Given the description of an element on the screen output the (x, y) to click on. 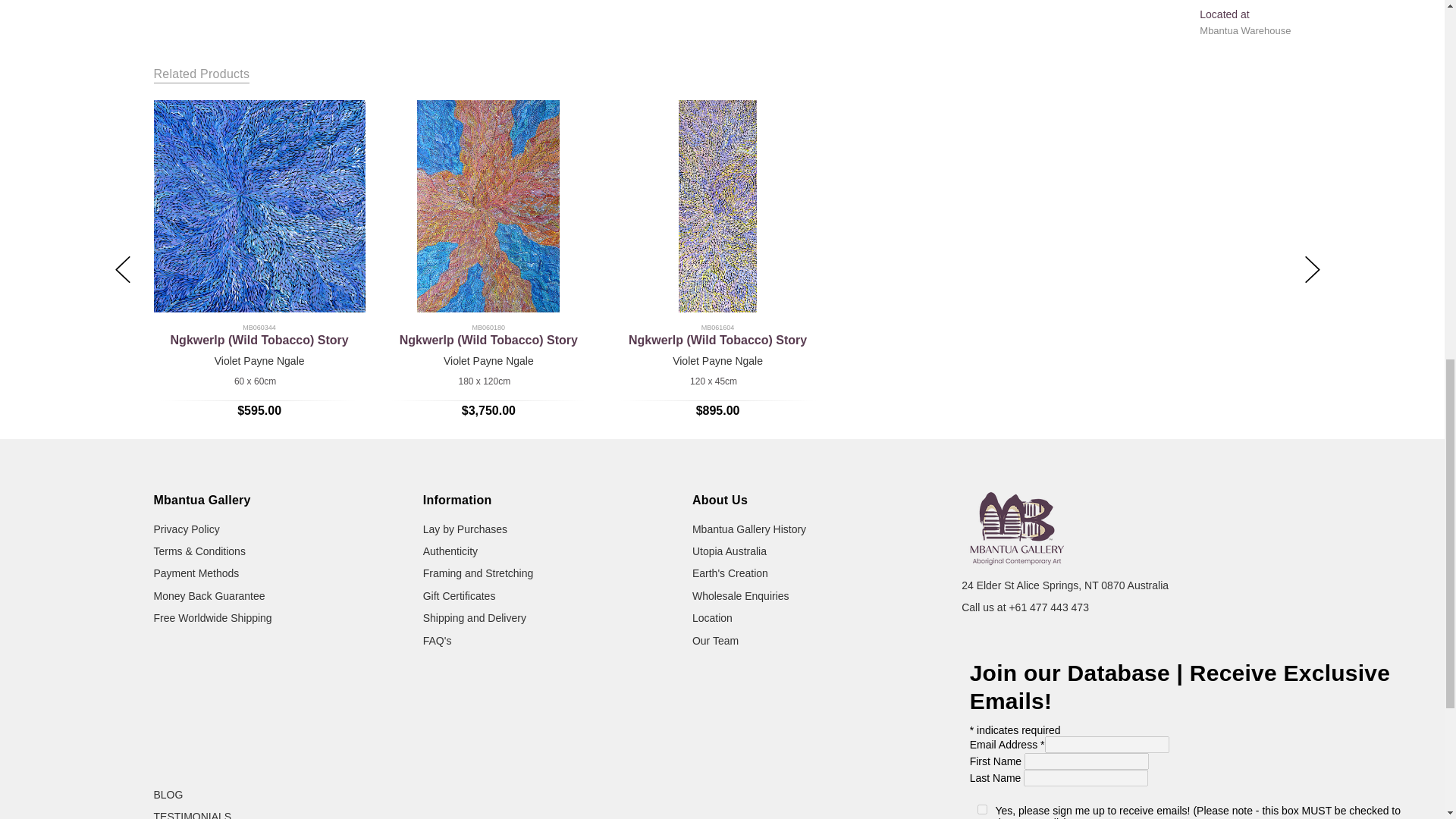
Violet Payne Ngale - MB060180 (488, 205)
Y (981, 809)
Violet Payne Ngale - MB061604 (718, 205)
Violet Payne Ngale - MB060344 (259, 205)
Mbantua Gallery (1016, 528)
